Given the description of an element on the screen output the (x, y) to click on. 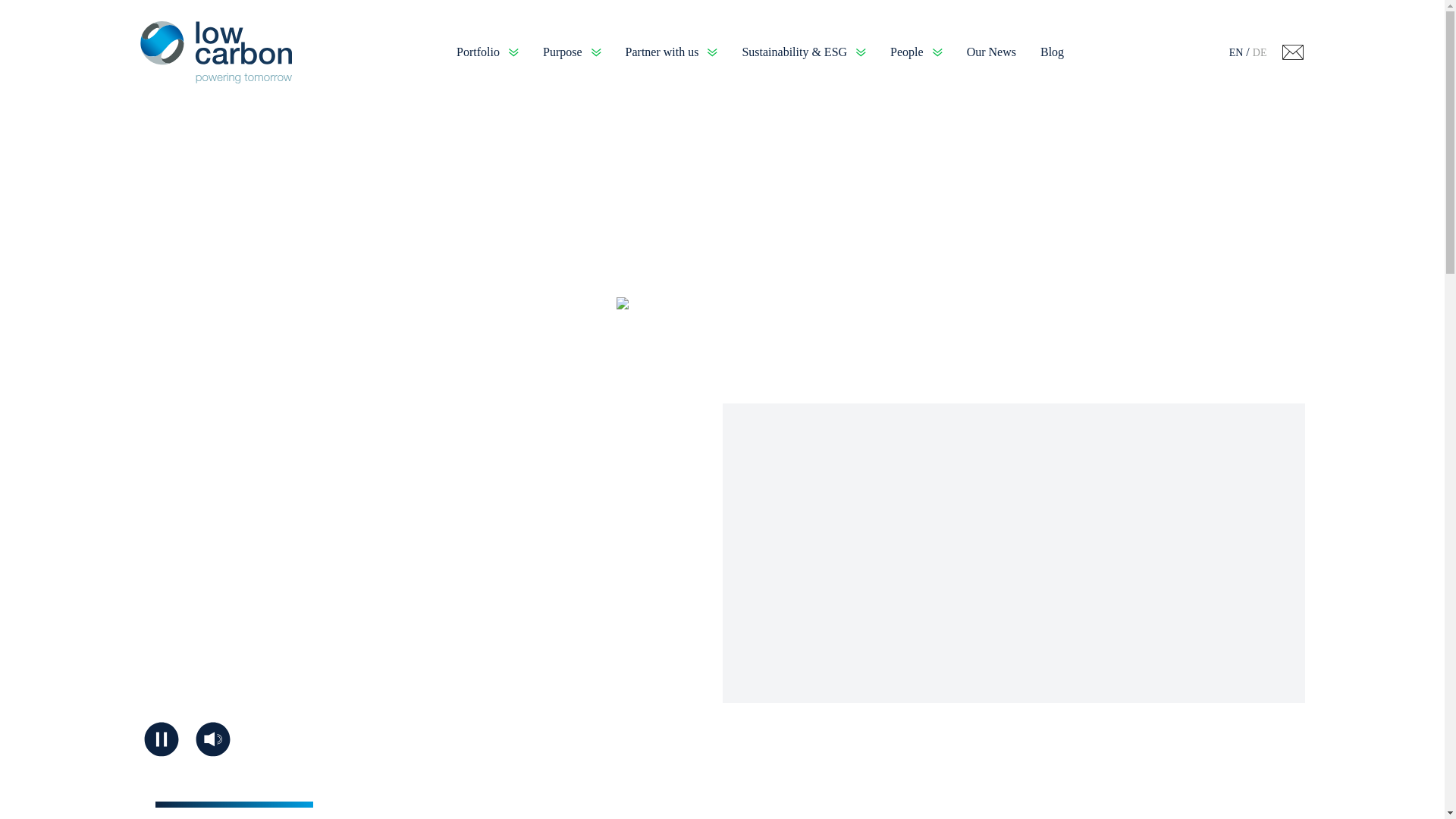
People (915, 52)
Partner with us (671, 52)
Our News (991, 51)
Pause (160, 739)
Portfolio (487, 52)
Blog (1052, 51)
Unmute (211, 739)
Purpose (572, 52)
